Given the description of an element on the screen output the (x, y) to click on. 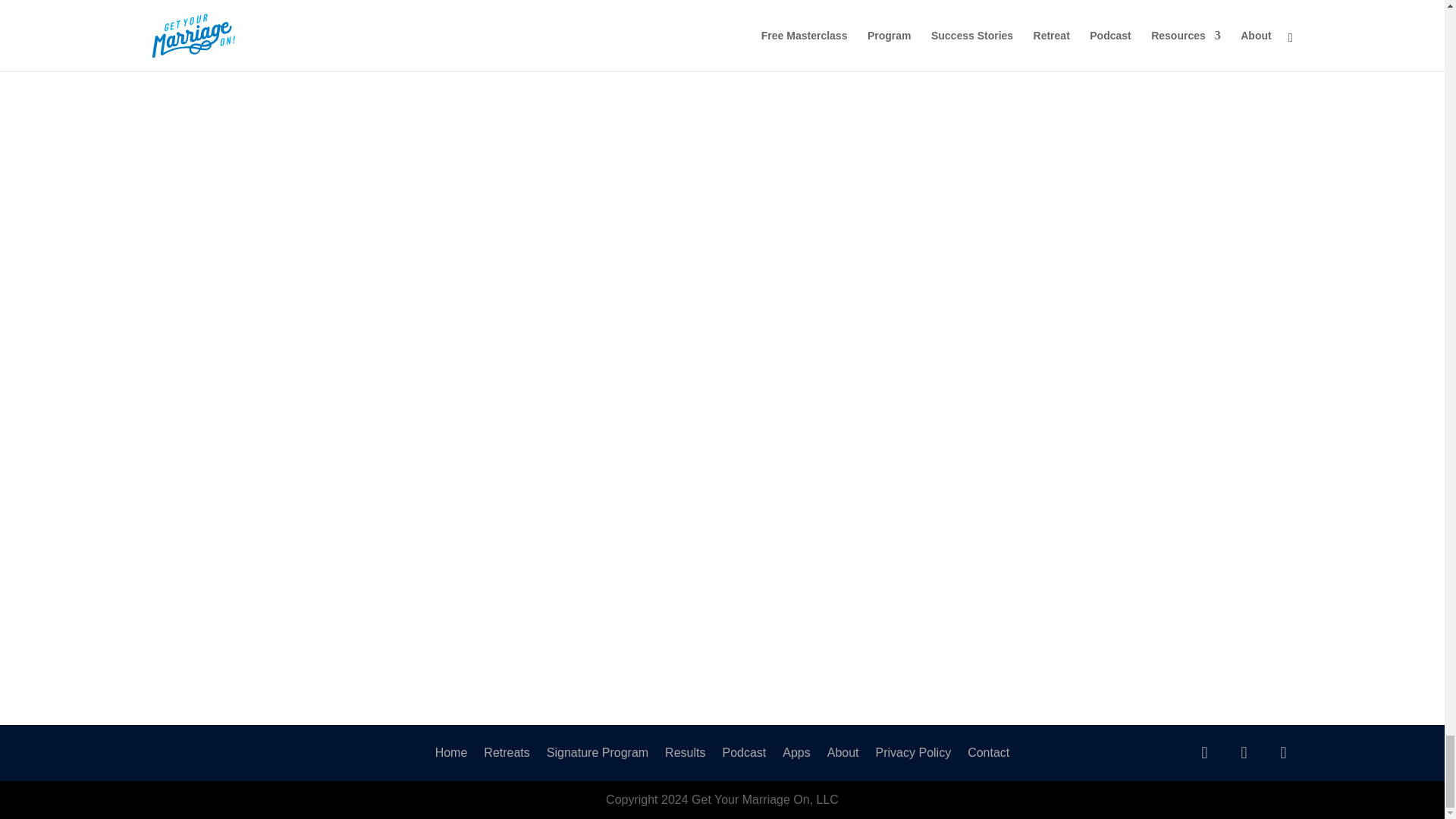
Follow on Youtube (1204, 752)
Follow on Instagram (1283, 752)
Follow on Facebook (1243, 752)
